Given the description of an element on the screen output the (x, y) to click on. 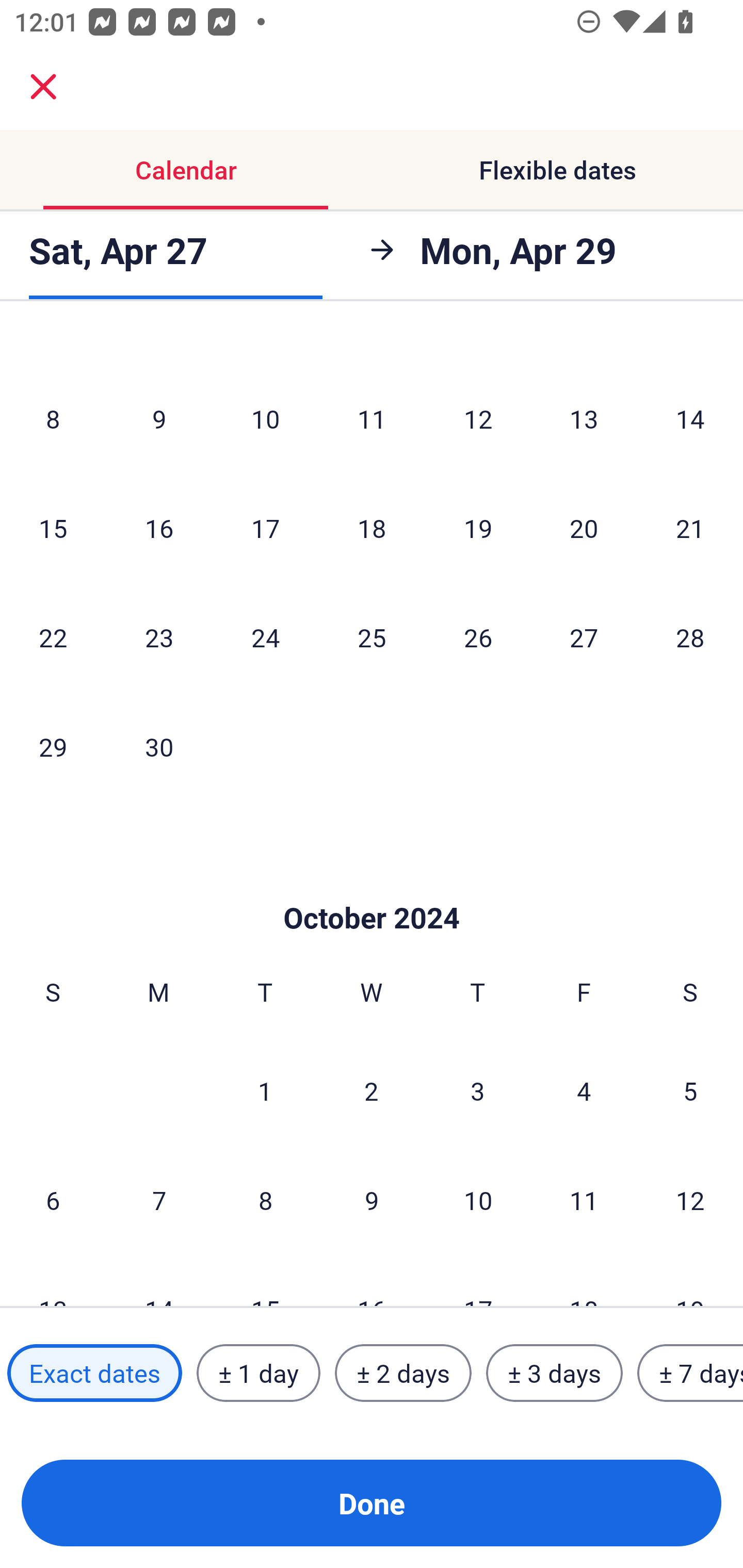
close. (43, 86)
Flexible dates (557, 170)
8 Sunday, September 8, 2024 (53, 418)
9 Monday, September 9, 2024 (159, 418)
10 Tuesday, September 10, 2024 (265, 418)
11 Wednesday, September 11, 2024 (371, 418)
12 Thursday, September 12, 2024 (477, 418)
13 Friday, September 13, 2024 (584, 418)
14 Saturday, September 14, 2024 (690, 418)
15 Sunday, September 15, 2024 (53, 527)
16 Monday, September 16, 2024 (159, 527)
17 Tuesday, September 17, 2024 (265, 527)
18 Wednesday, September 18, 2024 (371, 527)
19 Thursday, September 19, 2024 (477, 527)
20 Friday, September 20, 2024 (584, 527)
21 Saturday, September 21, 2024 (690, 527)
22 Sunday, September 22, 2024 (53, 636)
23 Monday, September 23, 2024 (159, 636)
24 Tuesday, September 24, 2024 (265, 636)
25 Wednesday, September 25, 2024 (371, 636)
26 Thursday, September 26, 2024 (477, 636)
27 Friday, September 27, 2024 (584, 636)
28 Saturday, September 28, 2024 (690, 636)
29 Sunday, September 29, 2024 (53, 746)
30 Monday, September 30, 2024 (159, 746)
Skip to Done (371, 886)
1 Tuesday, October 1, 2024 (264, 1090)
2 Wednesday, October 2, 2024 (371, 1090)
3 Thursday, October 3, 2024 (477, 1090)
4 Friday, October 4, 2024 (584, 1090)
5 Saturday, October 5, 2024 (690, 1090)
6 Sunday, October 6, 2024 (53, 1199)
7 Monday, October 7, 2024 (159, 1199)
8 Tuesday, October 8, 2024 (265, 1199)
9 Wednesday, October 9, 2024 (371, 1199)
10 Thursday, October 10, 2024 (477, 1199)
11 Friday, October 11, 2024 (584, 1199)
12 Saturday, October 12, 2024 (690, 1199)
Exact dates (94, 1372)
± 1 day (258, 1372)
± 2 days (403, 1372)
± 3 days (553, 1372)
± 7 days (690, 1372)
Done (371, 1502)
